Given the description of an element on the screen output the (x, y) to click on. 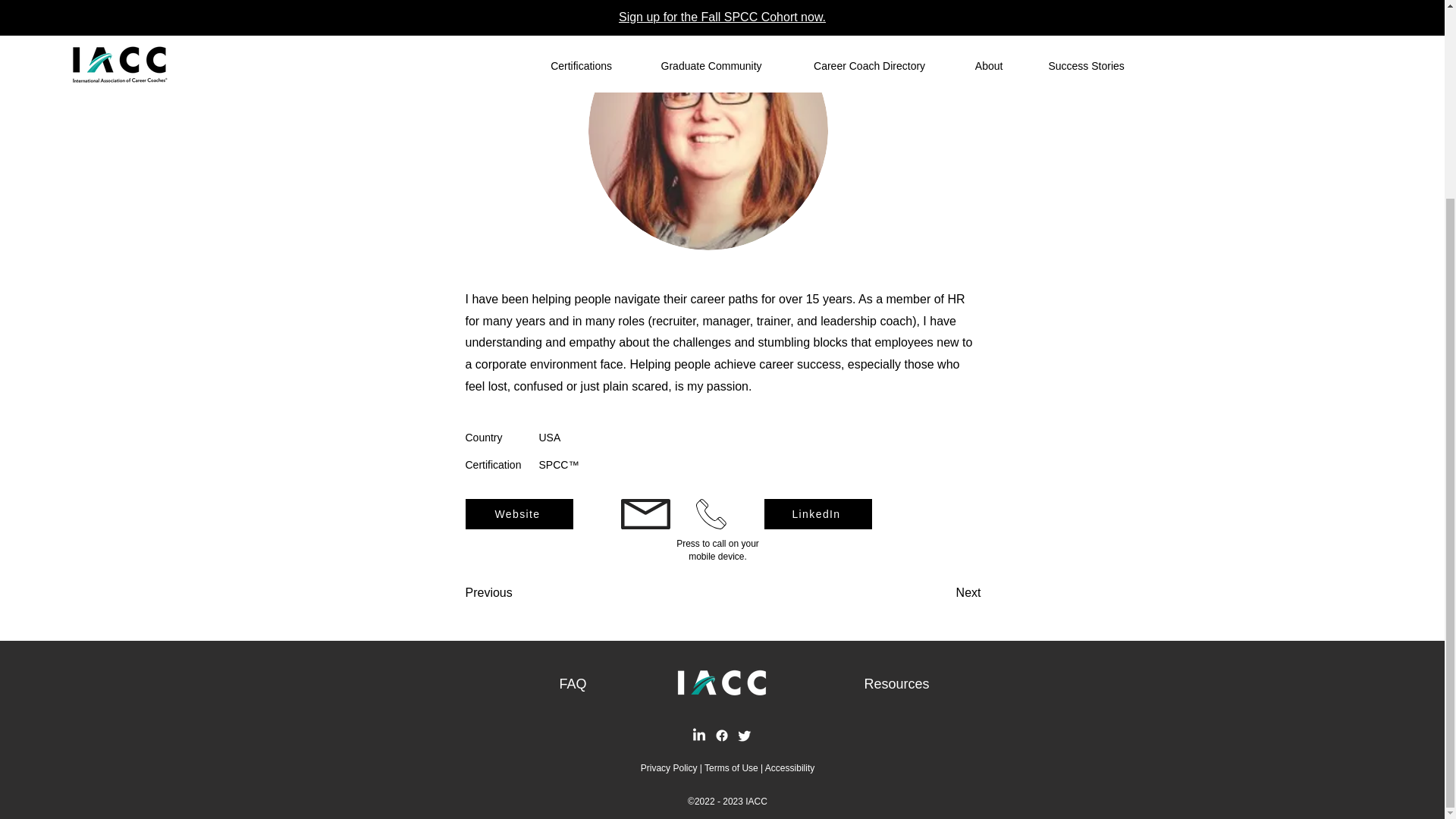
FAQ (572, 683)
Courtnay Slabaugh Headshot.jpeg (708, 130)
Accessibility (789, 767)
Previous (515, 593)
Website (519, 513)
Terms of Use (731, 767)
Resources (895, 683)
Privacy Policy (668, 767)
Next (943, 593)
LinkedIn (818, 513)
